Given the description of an element on the screen output the (x, y) to click on. 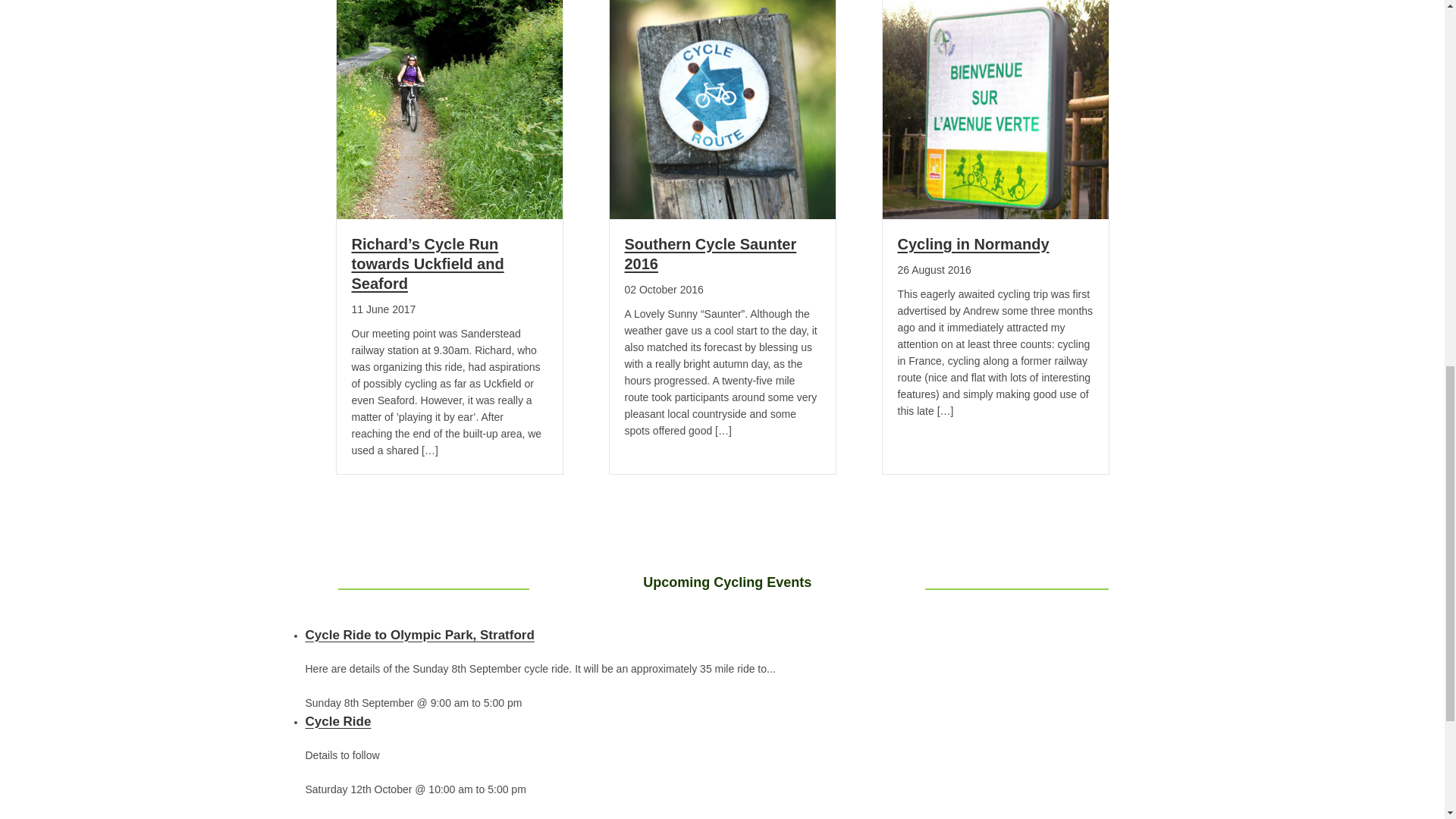
Southern Cycle Saunter 2016 (710, 253)
Cycling in Normandy (973, 243)
Cycling in Normandy (995, 104)
Southern Cycle Saunter 2016 (722, 104)
